Given the description of an element on the screen output the (x, y) to click on. 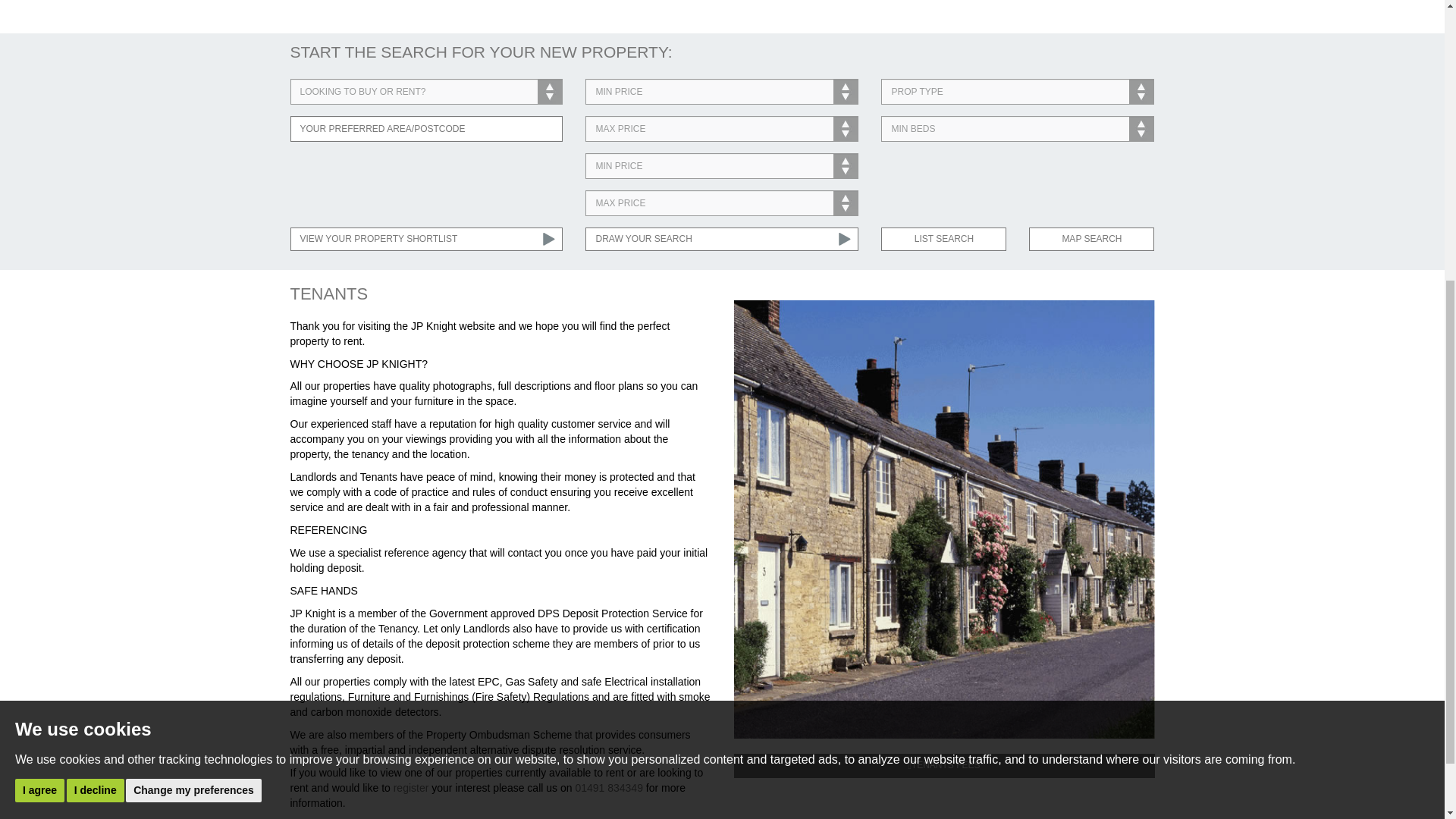
I decline (94, 332)
register (411, 787)
VIEW YOUR PROPERTY SHORTLIST (425, 238)
MAP SEARCH (1091, 238)
TENANTS FEES (943, 765)
LIST SEARCH (943, 238)
Change my preferences (193, 332)
01491 834349 (609, 787)
DRAW YOUR SEARCH (722, 238)
I agree (39, 332)
